Given the description of an element on the screen output the (x, y) to click on. 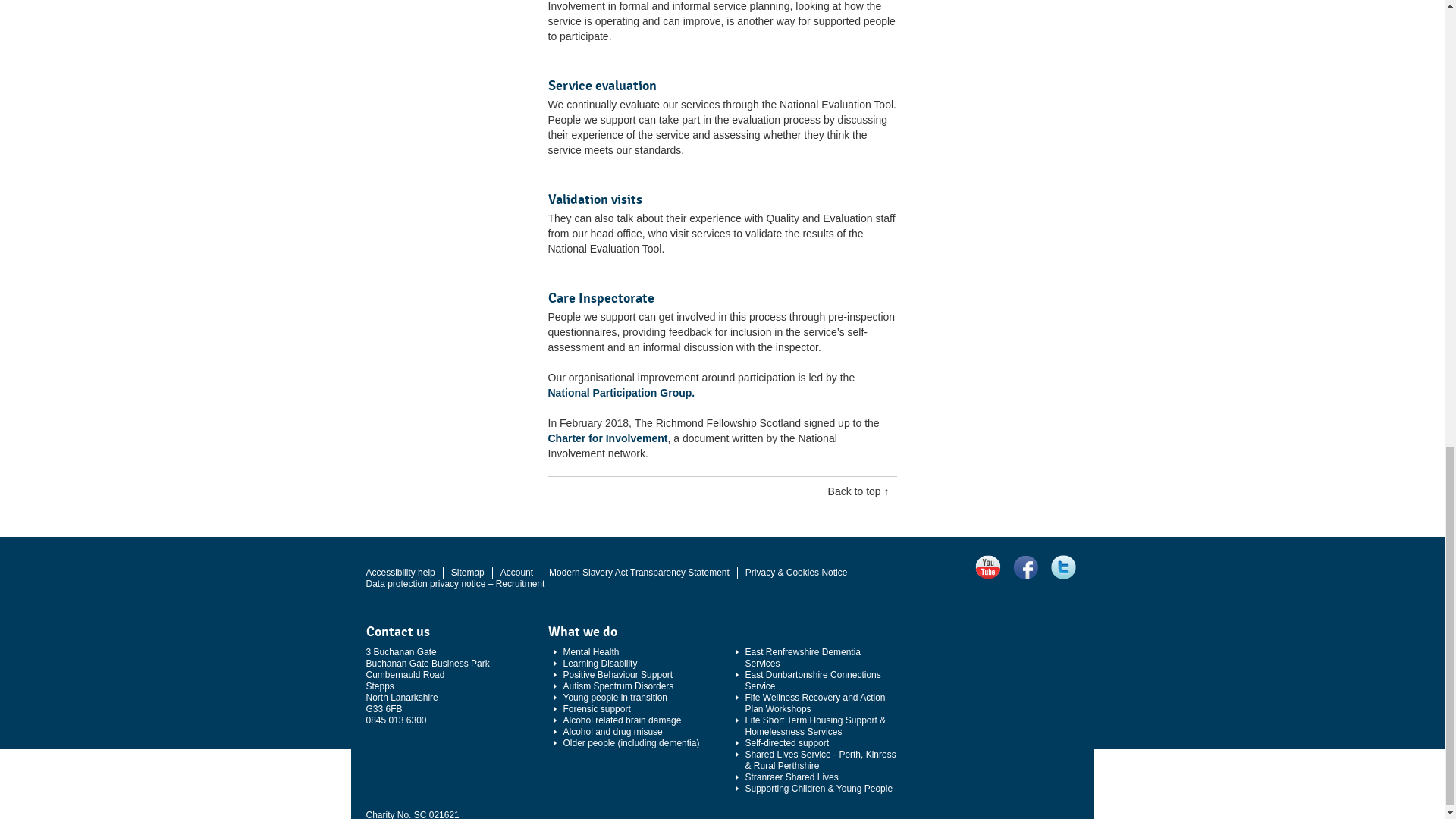
Charter for Involvement (606, 438)
Accessibility help (399, 572)
Mental Health (630, 652)
National Participation Group. (620, 392)
YouTube (987, 567)
Twitter (1063, 567)
Facebook (1025, 567)
Account (516, 572)
Modern Slavery Act Transparency Statement (638, 572)
Sitemap (467, 572)
